Given the description of an element on the screen output the (x, y) to click on. 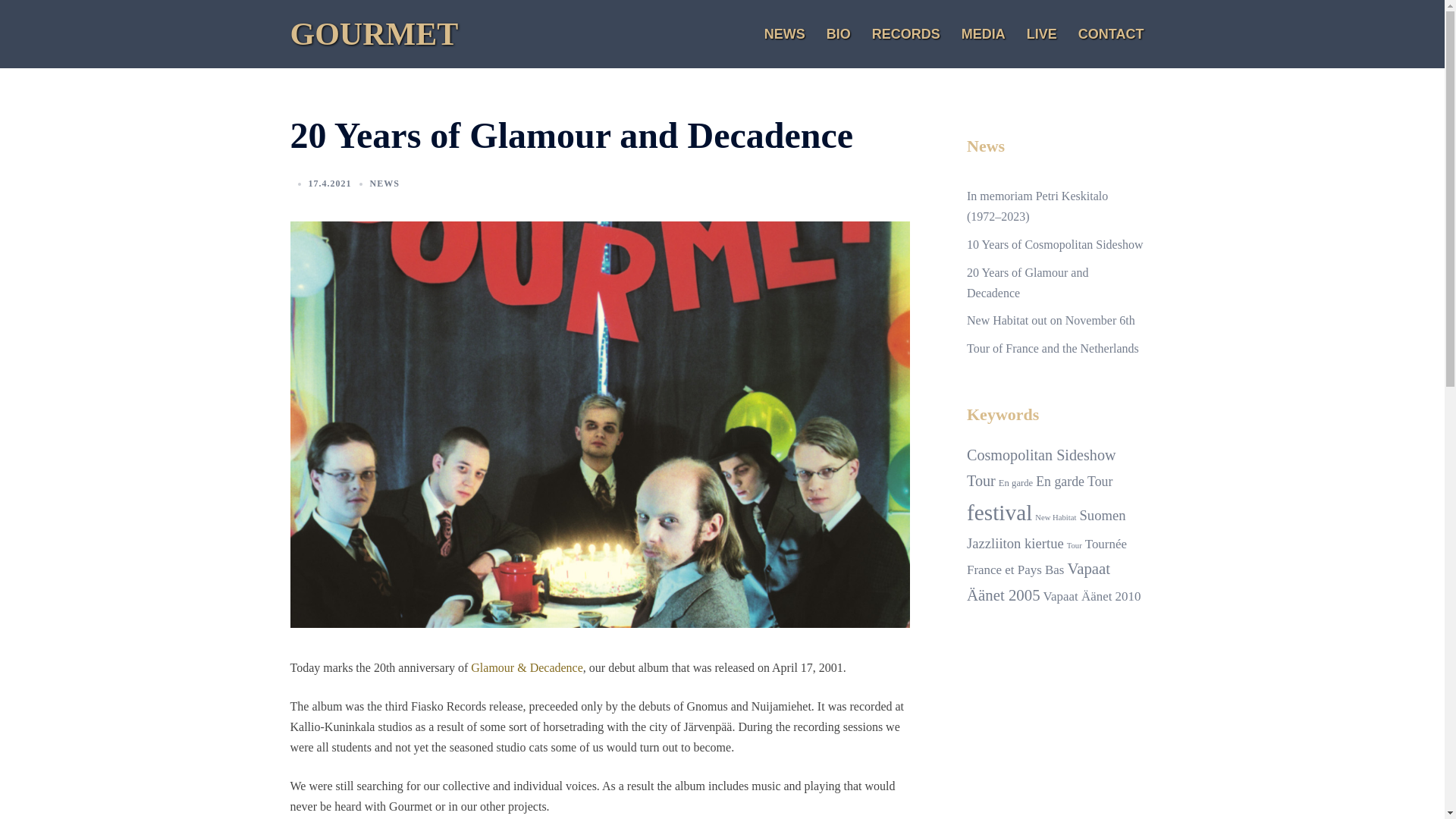
En garde Element type: text (1015, 482)
Tour of France and the Netherlands Element type: text (1052, 348)
New Habitat out on November 6th Element type: text (1050, 319)
MEDIA Element type: text (983, 33)
Cosmopolitan Sideshow Tour Element type: text (1041, 467)
20 Years of Glamour and Decadence Element type: text (1027, 282)
Suomen Jazzliiton kiertue Element type: text (1046, 529)
festival Element type: text (999, 512)
CONTACT Element type: text (1111, 33)
Tour Element type: text (1074, 545)
17.4.2021 Element type: text (329, 183)
RECORDS Element type: text (906, 33)
10 Years of Cosmopolitan Sideshow Element type: text (1054, 244)
New Habitat Element type: text (1055, 517)
Glamour & Decadence Element type: text (526, 667)
NEWS Element type: text (784, 33)
GOURMET Element type: text (373, 33)
LIVE Element type: text (1041, 33)
NEWS Element type: text (384, 183)
En garde Tour Element type: text (1073, 481)
BIO Element type: text (838, 33)
